Given the description of an element on the screen output the (x, y) to click on. 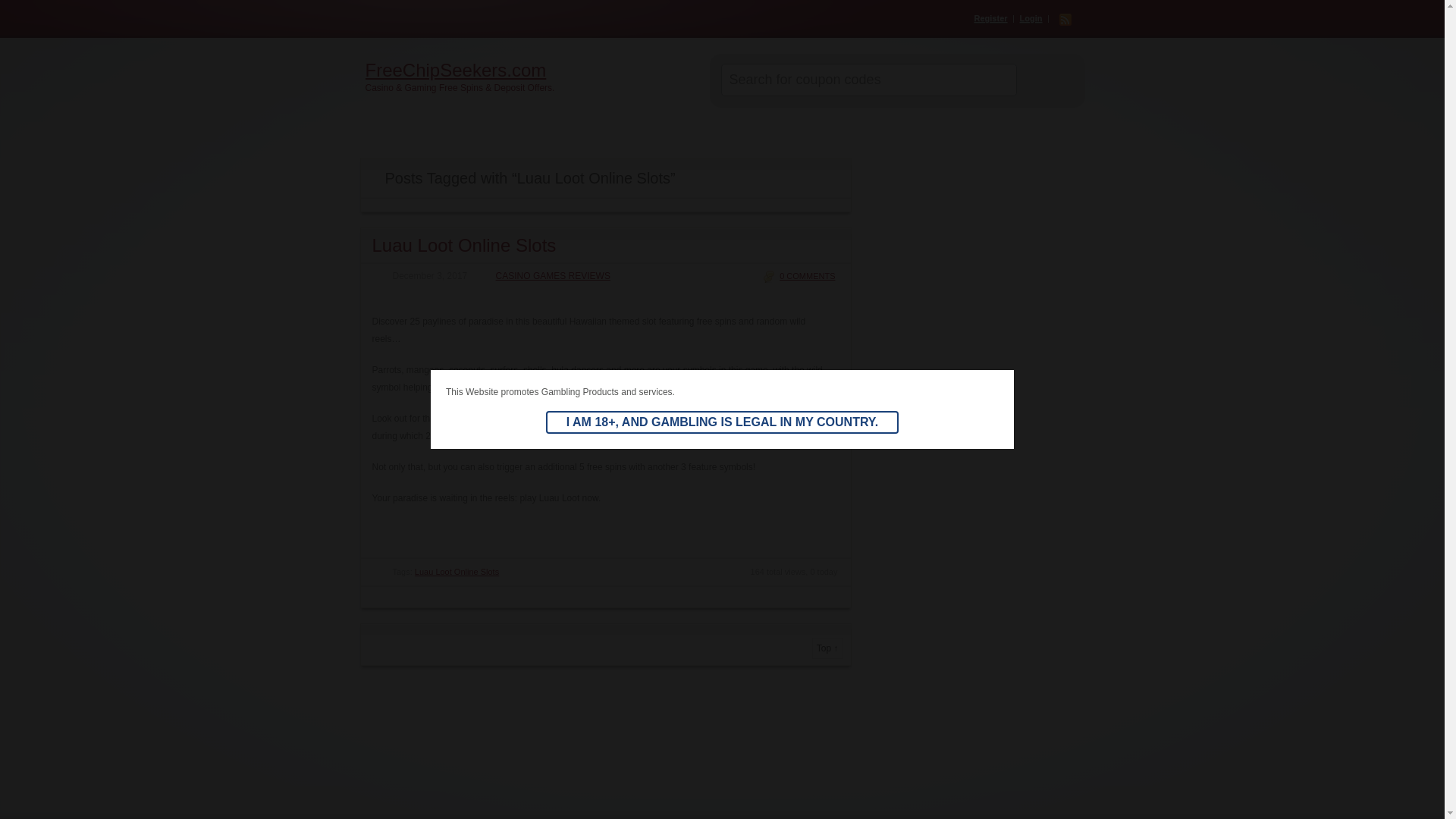
Luau Loot Online Slots (456, 571)
FreeChipSeekers.com (535, 69)
RSS (1064, 19)
Register (990, 17)
FreeChipSeekers.com (535, 69)
Luau Loot Online Slots (463, 245)
Search (1043, 80)
0 COMMENTS (798, 275)
CASINO GAMES REVIEWS (544, 276)
Search (1043, 80)
